Given the description of an element on the screen output the (x, y) to click on. 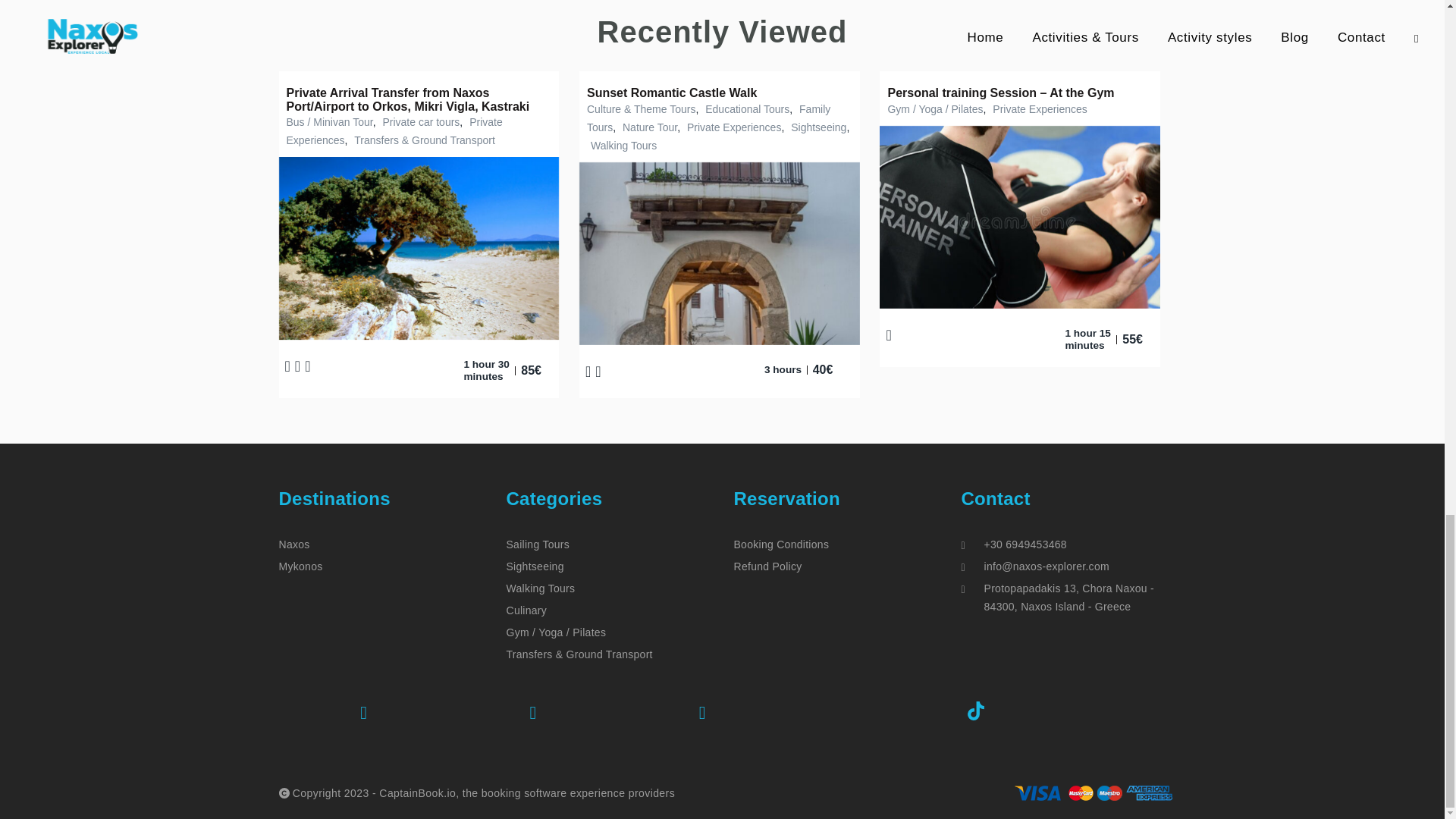
Walking Tours (621, 145)
Family Tours (707, 118)
Private car tours (419, 121)
Nature Tour (647, 127)
Private Experiences (1037, 109)
Educational Tours (745, 109)
Sunset Romantic Castle Walk (671, 92)
Sightseeing (816, 127)
Private Experiences (394, 131)
Private Experiences (731, 127)
Naxos (294, 544)
